Given the description of an element on the screen output the (x, y) to click on. 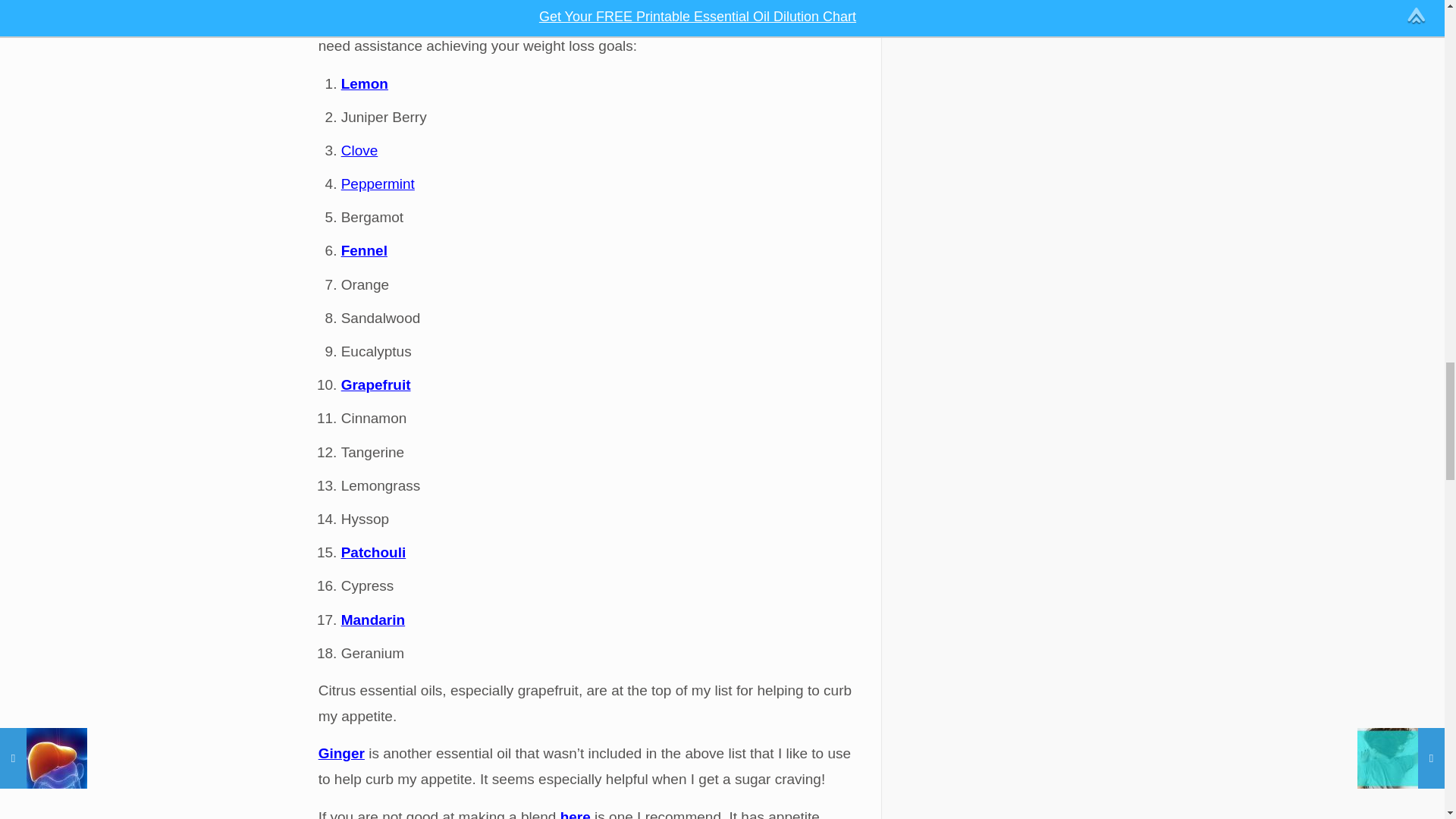
Lemon (364, 83)
Clove (359, 150)
Patchouli (373, 552)
Peppermint (377, 183)
Ginger (341, 753)
Mandarin (372, 619)
Fennel (363, 250)
here (575, 814)
Grapefruit (375, 384)
